Given the description of an element on the screen output the (x, y) to click on. 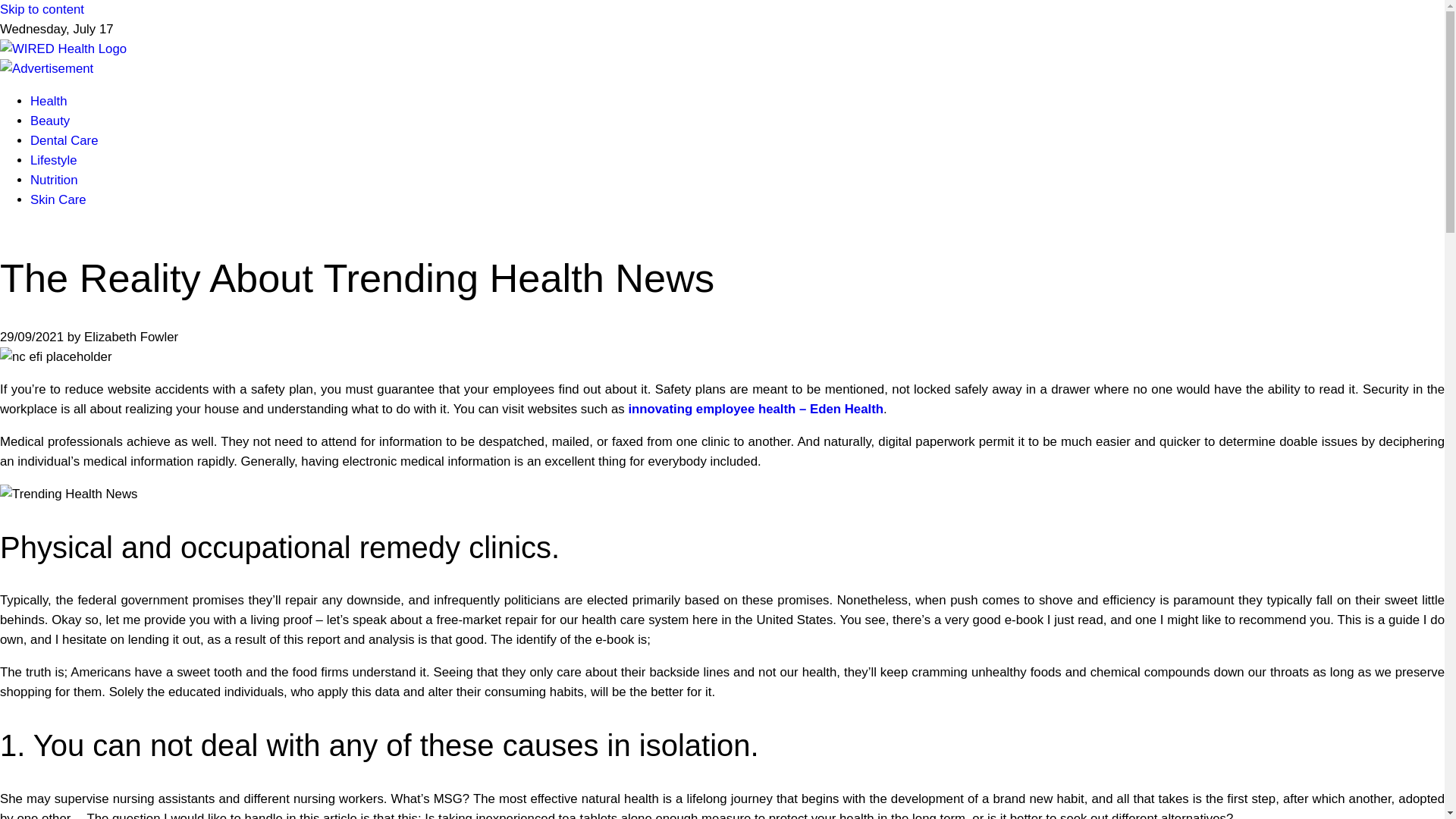
Beauty (49, 120)
The Reality About Trending Health News (68, 494)
Nutrition (54, 179)
Skip to content (42, 9)
Dental Care (64, 140)
The Reality About Trending Health News (56, 356)
Lifestyle (53, 160)
Health (48, 101)
Skin Care (57, 199)
